Given the description of an element on the screen output the (x, y) to click on. 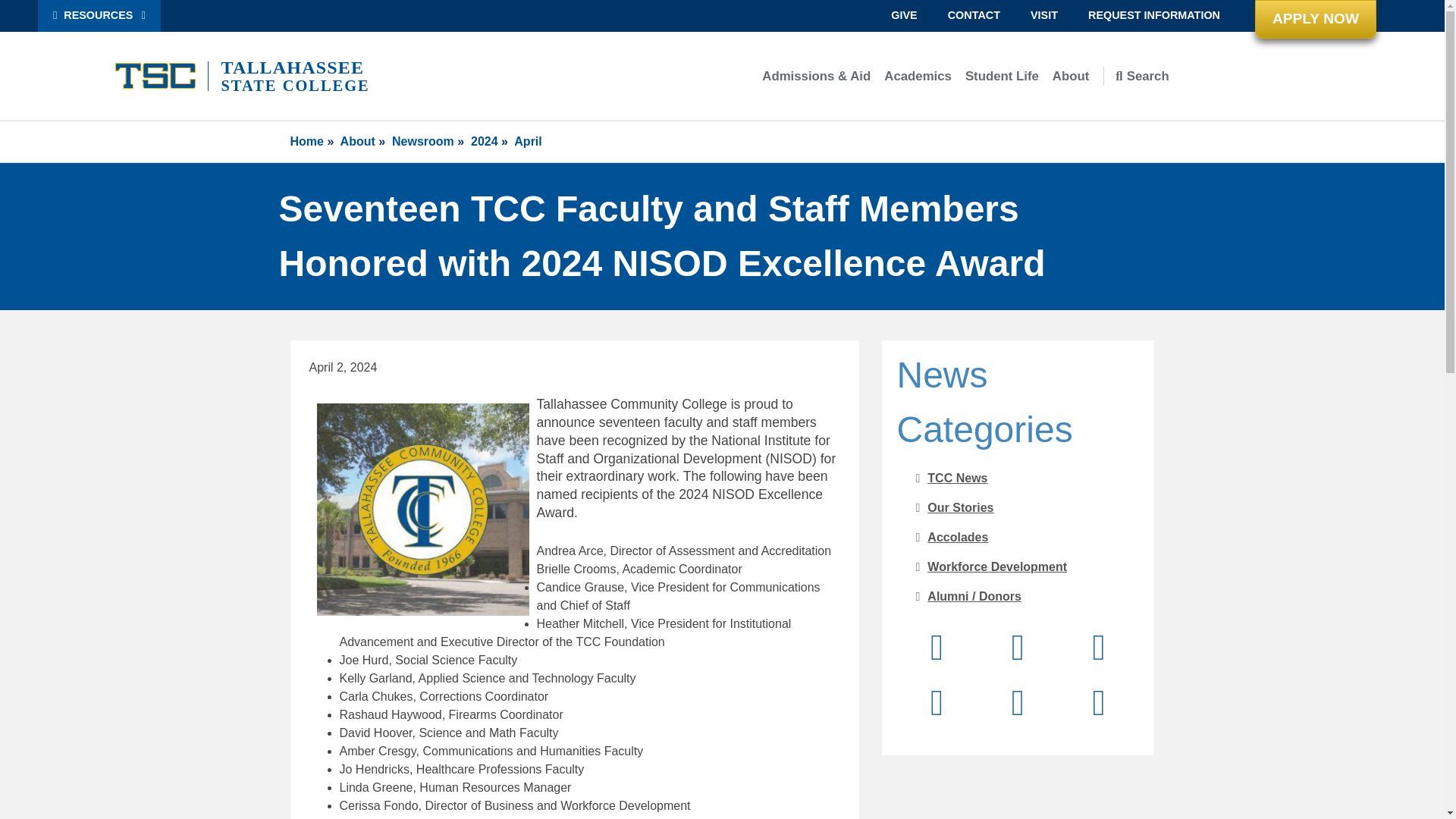
CONTACT (973, 15)
VISIT (1043, 15)
RESOURCES (98, 15)
REQUEST INFORMATION (1153, 15)
APPLY NOW (1315, 19)
GIVE (903, 15)
